Given the description of an element on the screen output the (x, y) to click on. 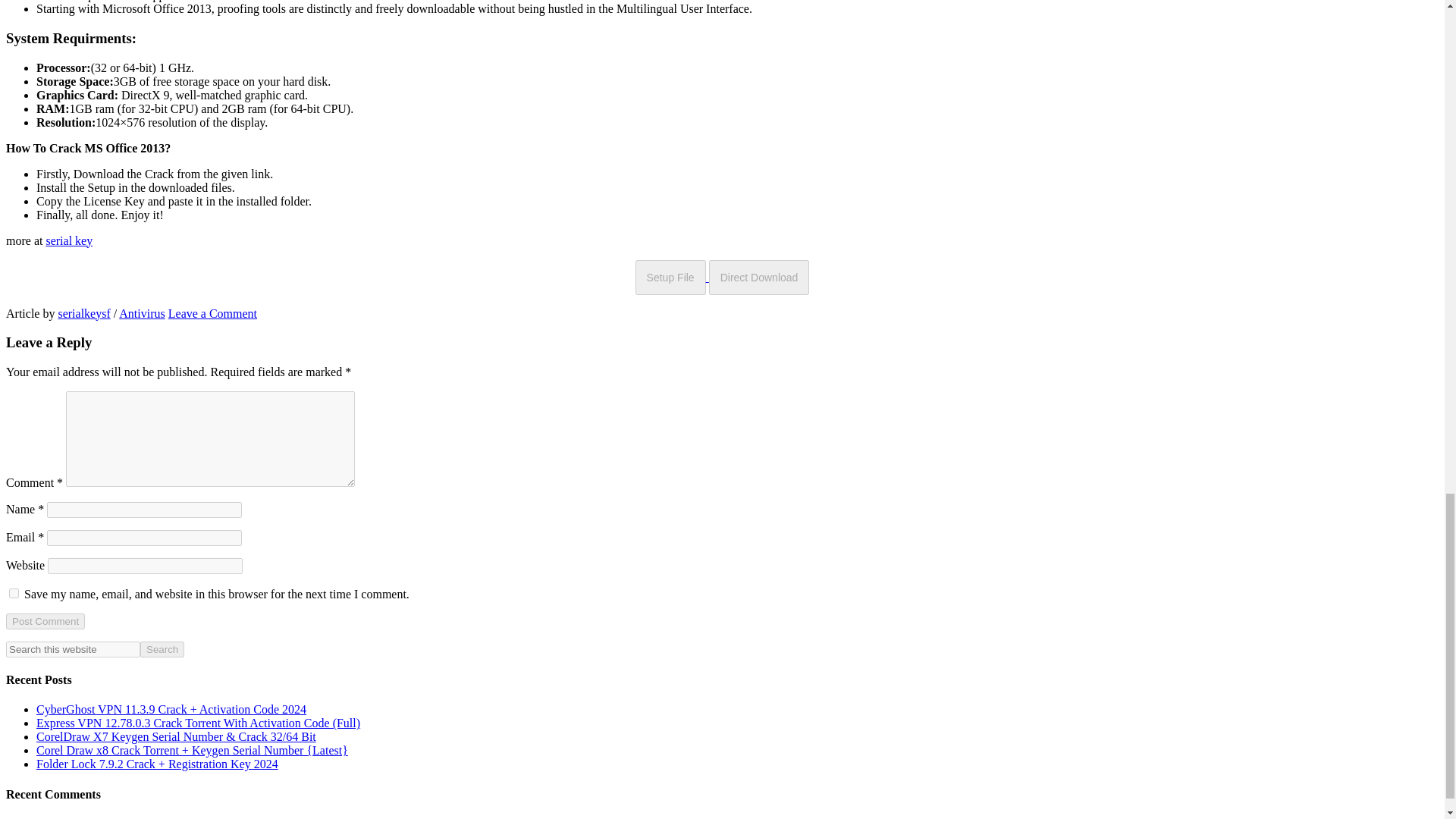
serial key (69, 240)
Search (161, 649)
Setup File Direct Download (721, 277)
yes (13, 593)
Post Comment (44, 621)
Search (161, 649)
